Given the description of an element on the screen output the (x, y) to click on. 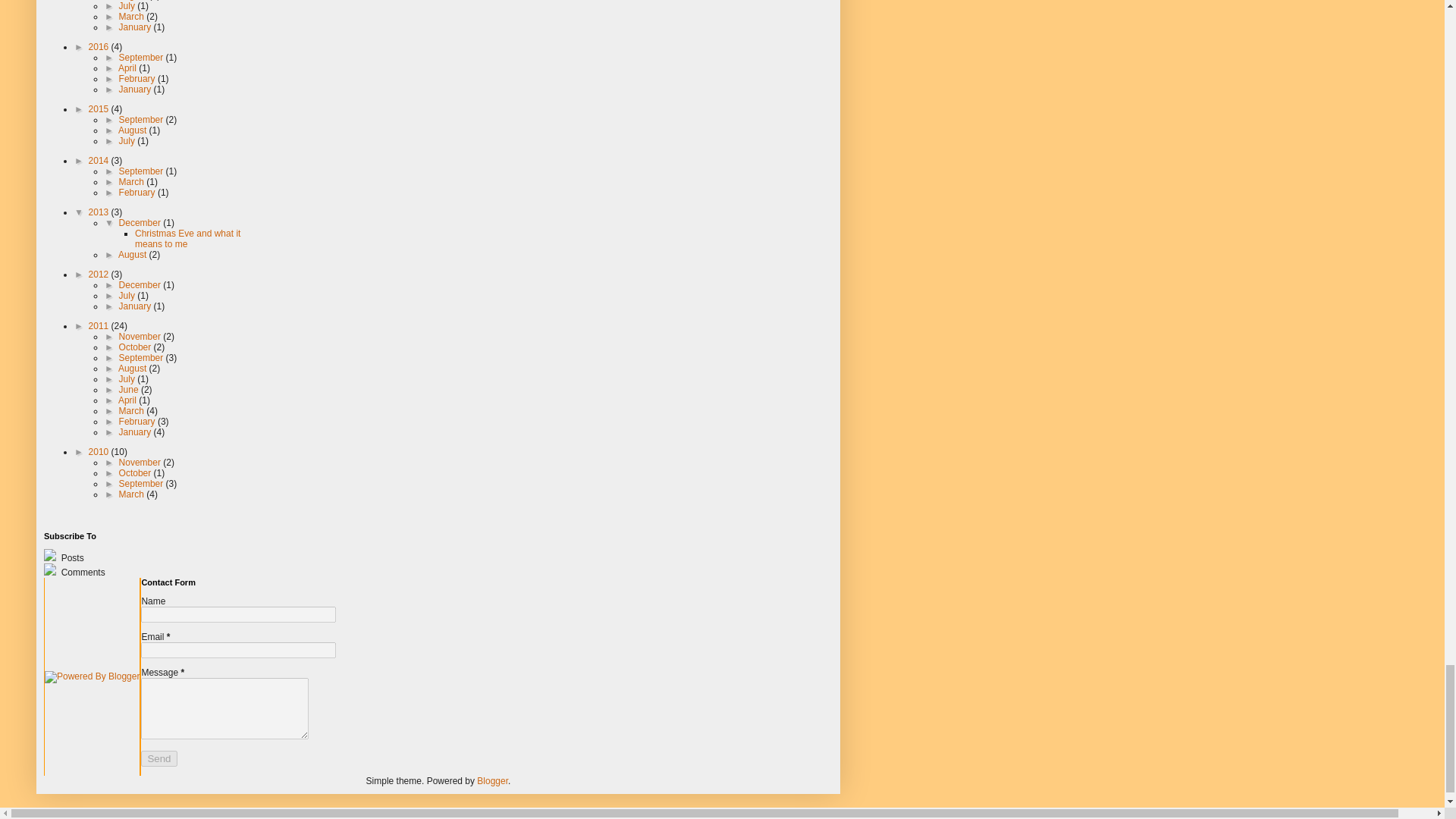
Send (158, 758)
